Given the description of an element on the screen output the (x, y) to click on. 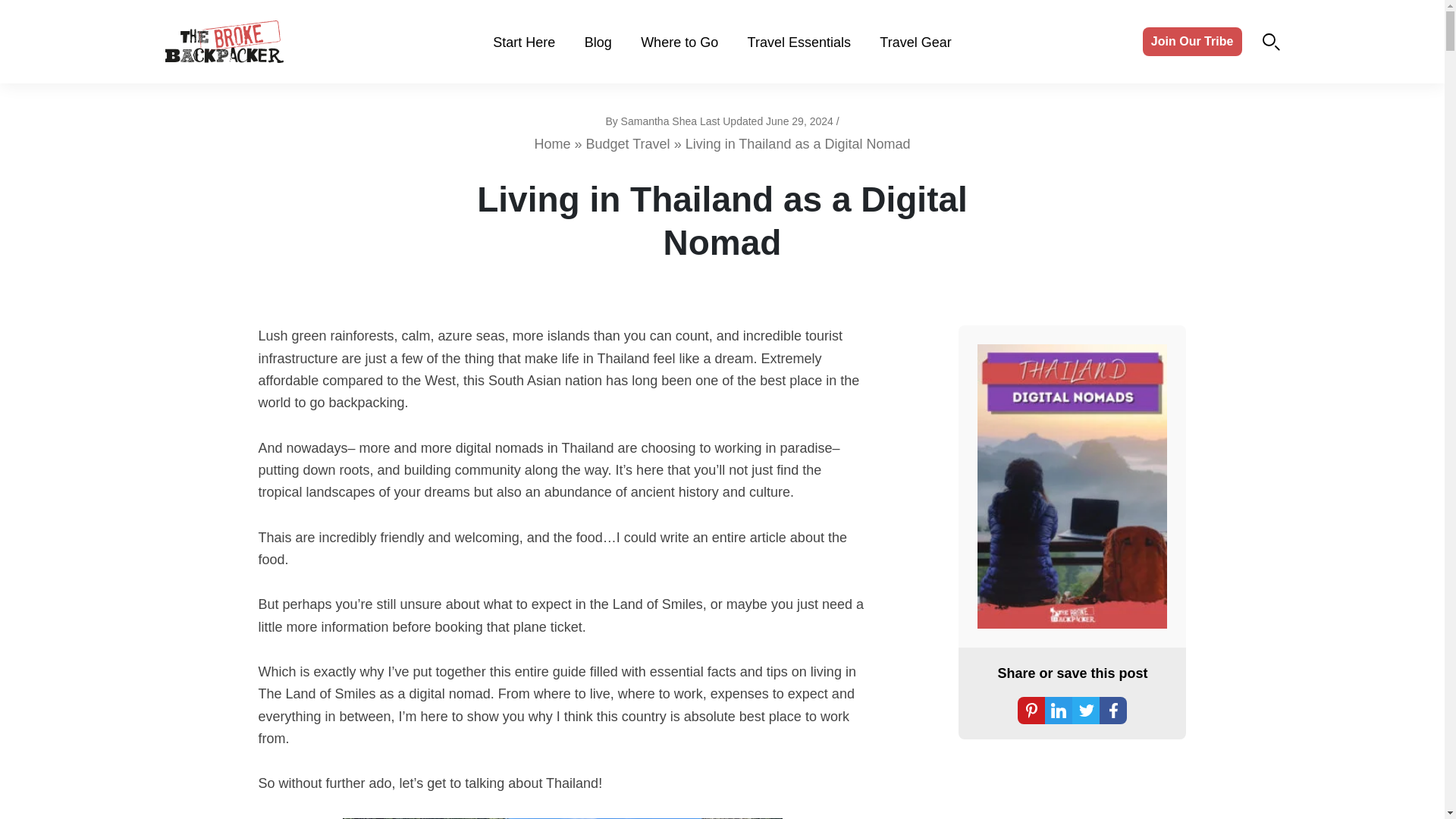
Start Here (523, 42)
Blog (598, 42)
Where to Go (678, 42)
